Given the description of an element on the screen output the (x, y) to click on. 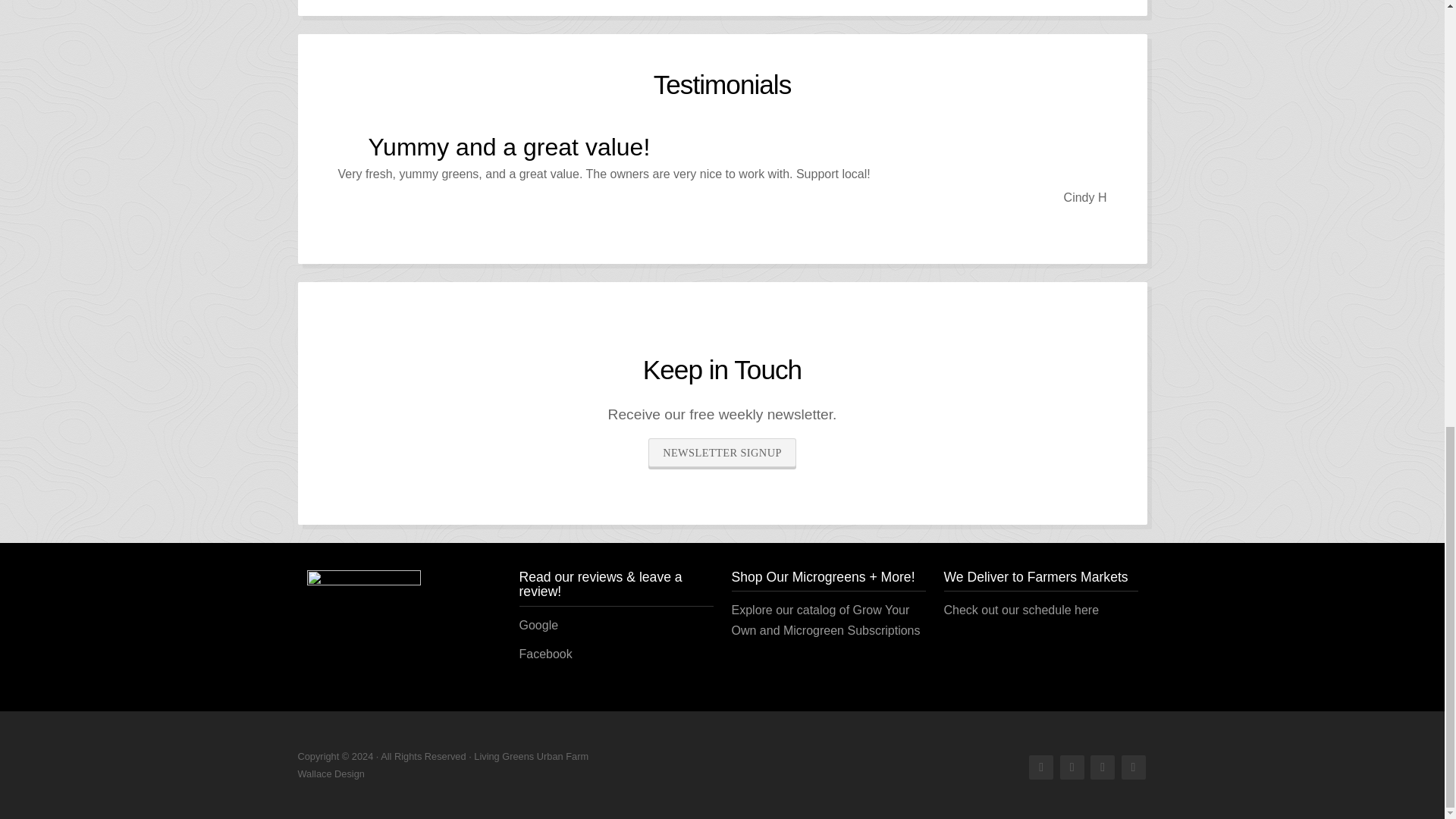
NEWSLETTER SIGNUP (721, 452)
Facebook (545, 653)
Google (537, 625)
Check out our schedule here (1021, 609)
